Given the description of an element on the screen output the (x, y) to click on. 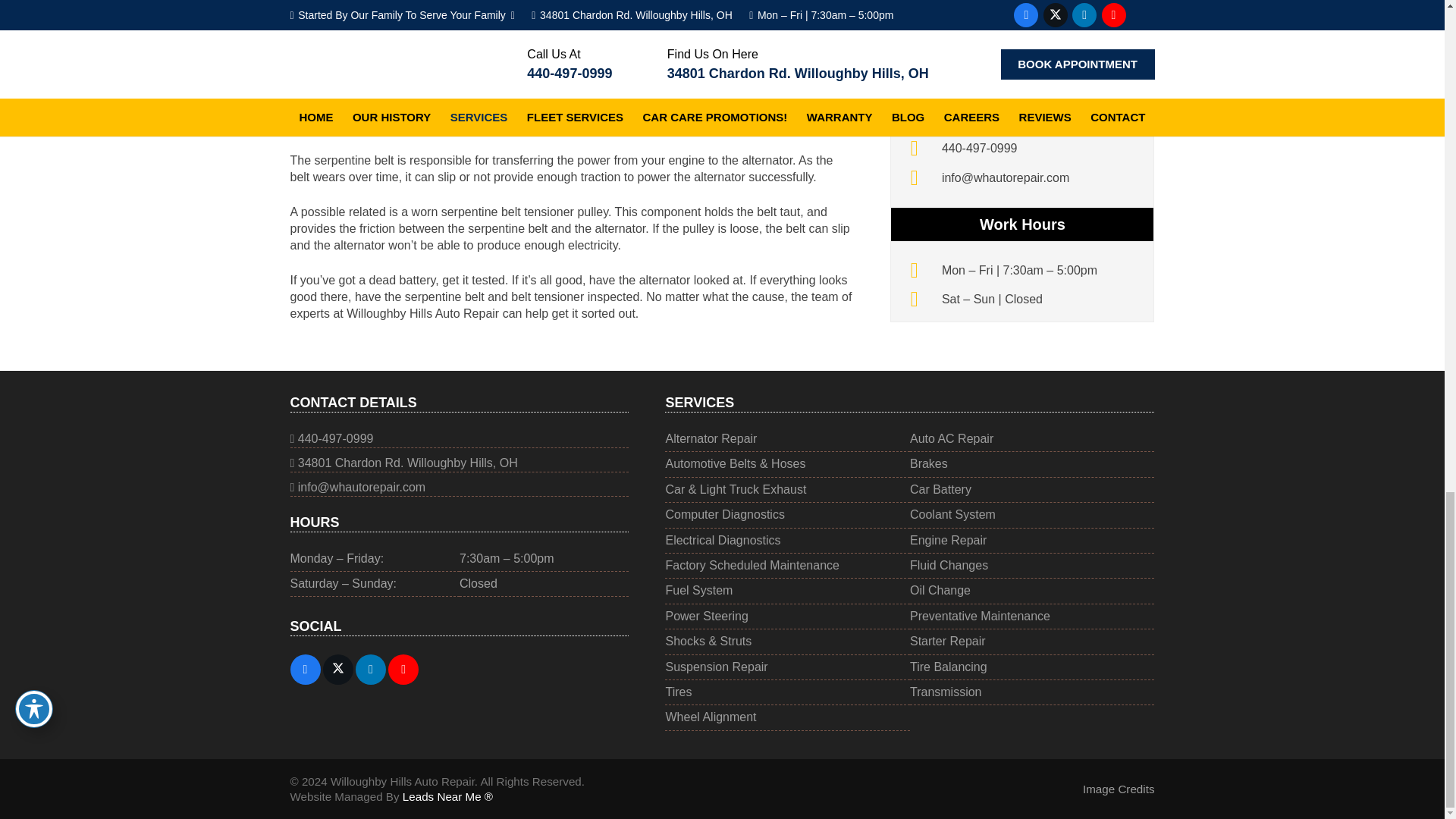
YouTube (403, 669)
LinkedIn (370, 669)
Facebook (304, 669)
Twitter (338, 669)
